Given the description of an element on the screen output the (x, y) to click on. 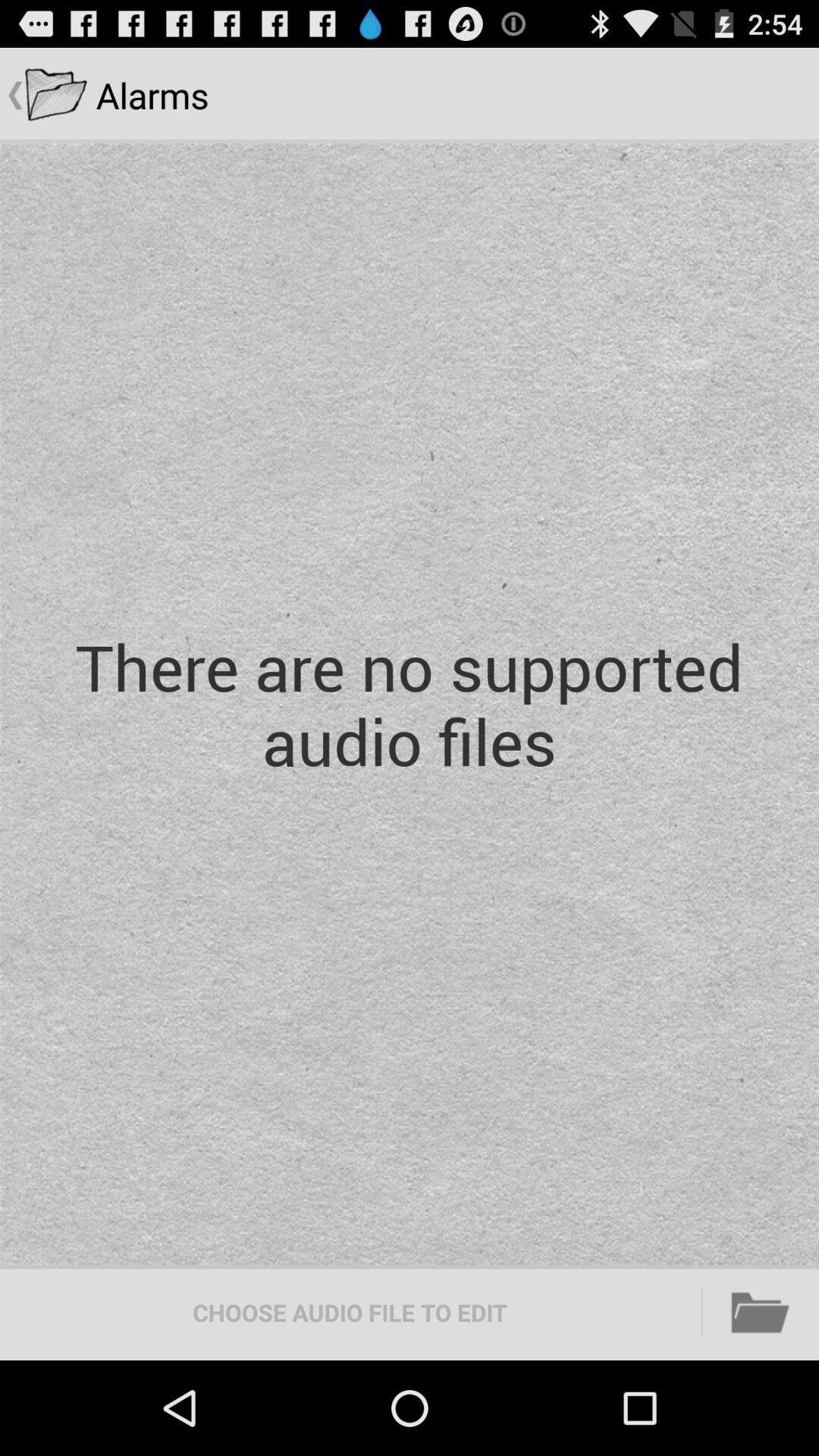
turn off the item at the bottom right corner (760, 1312)
